Given the description of an element on the screen output the (x, y) to click on. 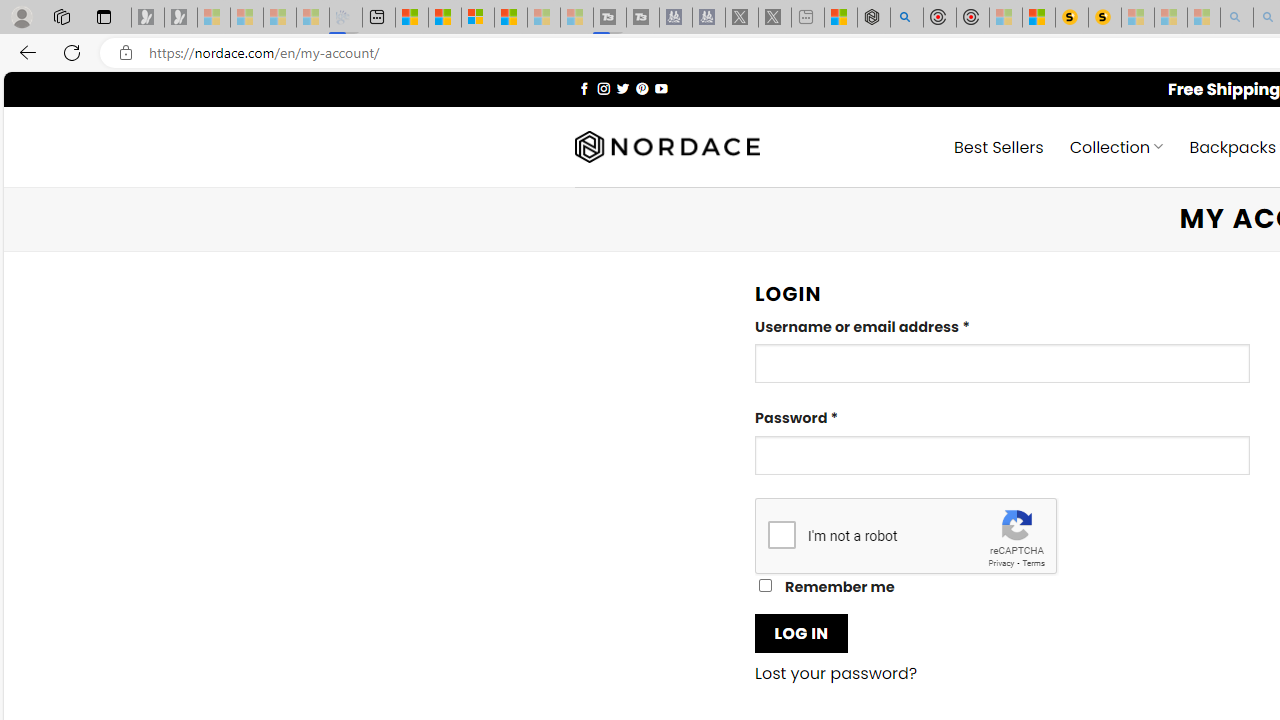
LOG IN (801, 632)
poe - Search (906, 17)
Follow on Twitter (621, 88)
amazon - Search - Sleeping (1237, 17)
Microsoft Start - Sleeping (543, 17)
